Given the description of an element on the screen output the (x, y) to click on. 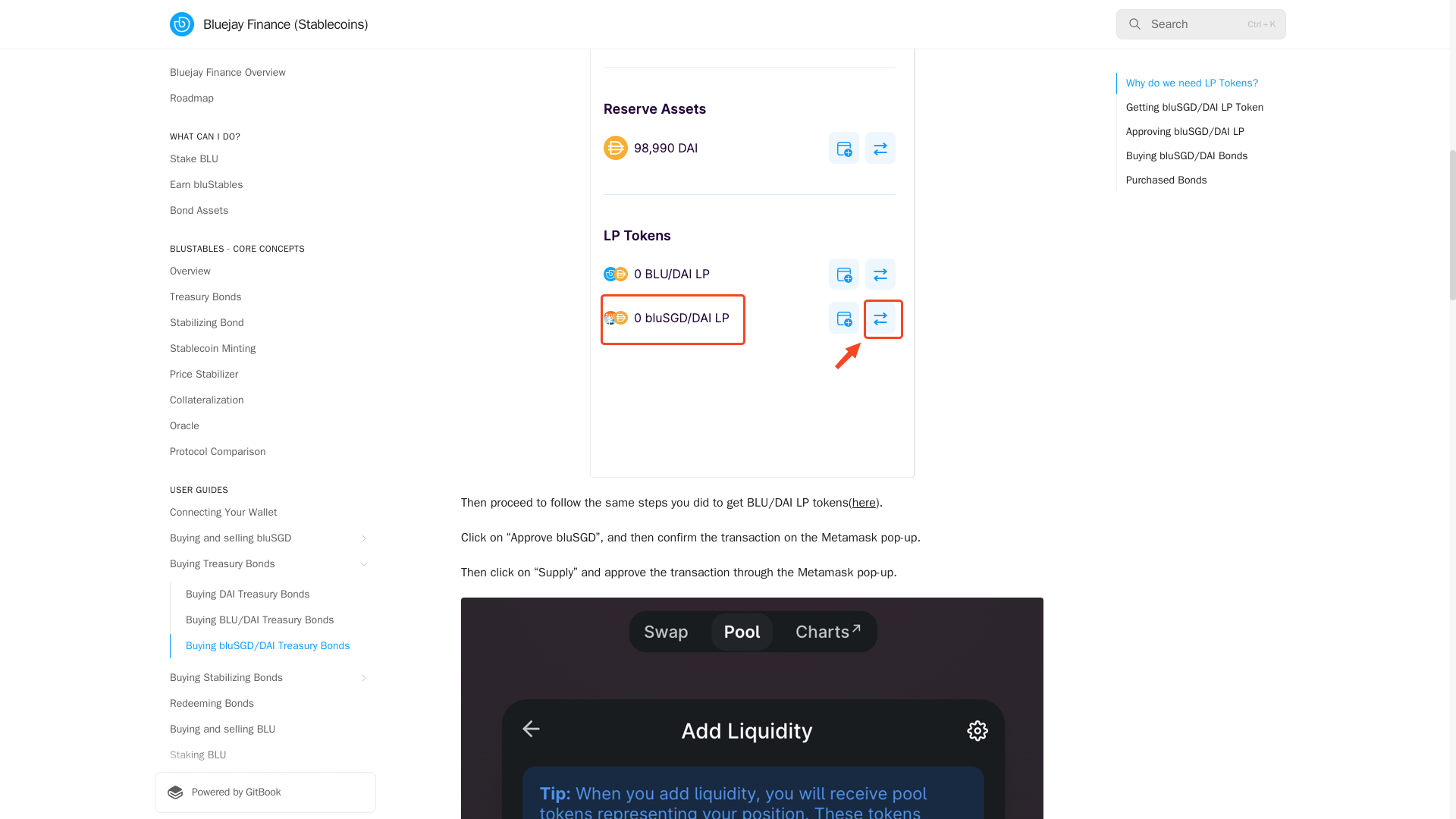
Broken link (863, 502)
Bluejay Earn (264, 99)
Overview (264, 48)
Code Audit (264, 74)
